Given the description of an element on the screen output the (x, y) to click on. 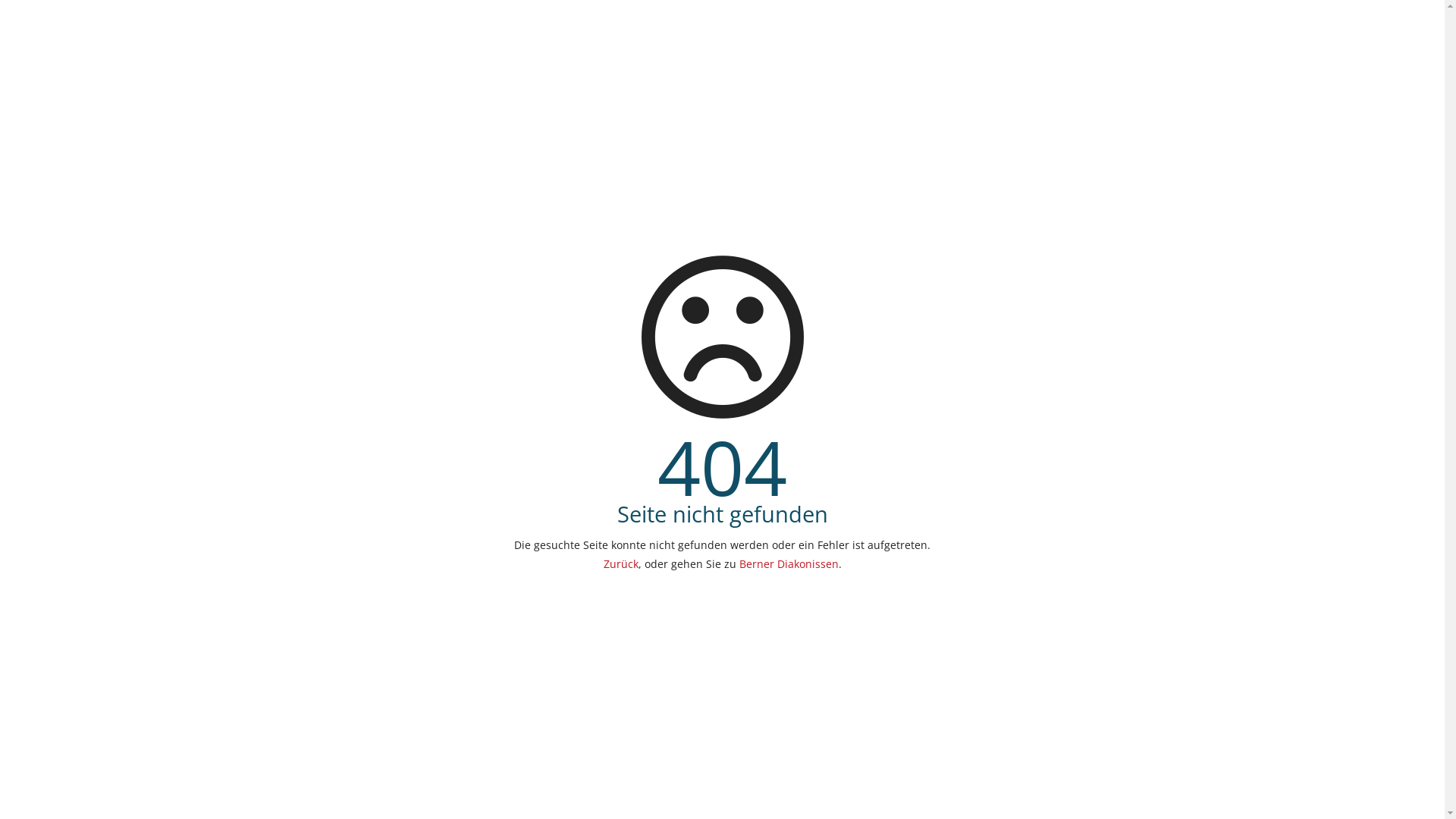
Berner Diakonissen Element type: text (787, 563)
